Given the description of an element on the screen output the (x, y) to click on. 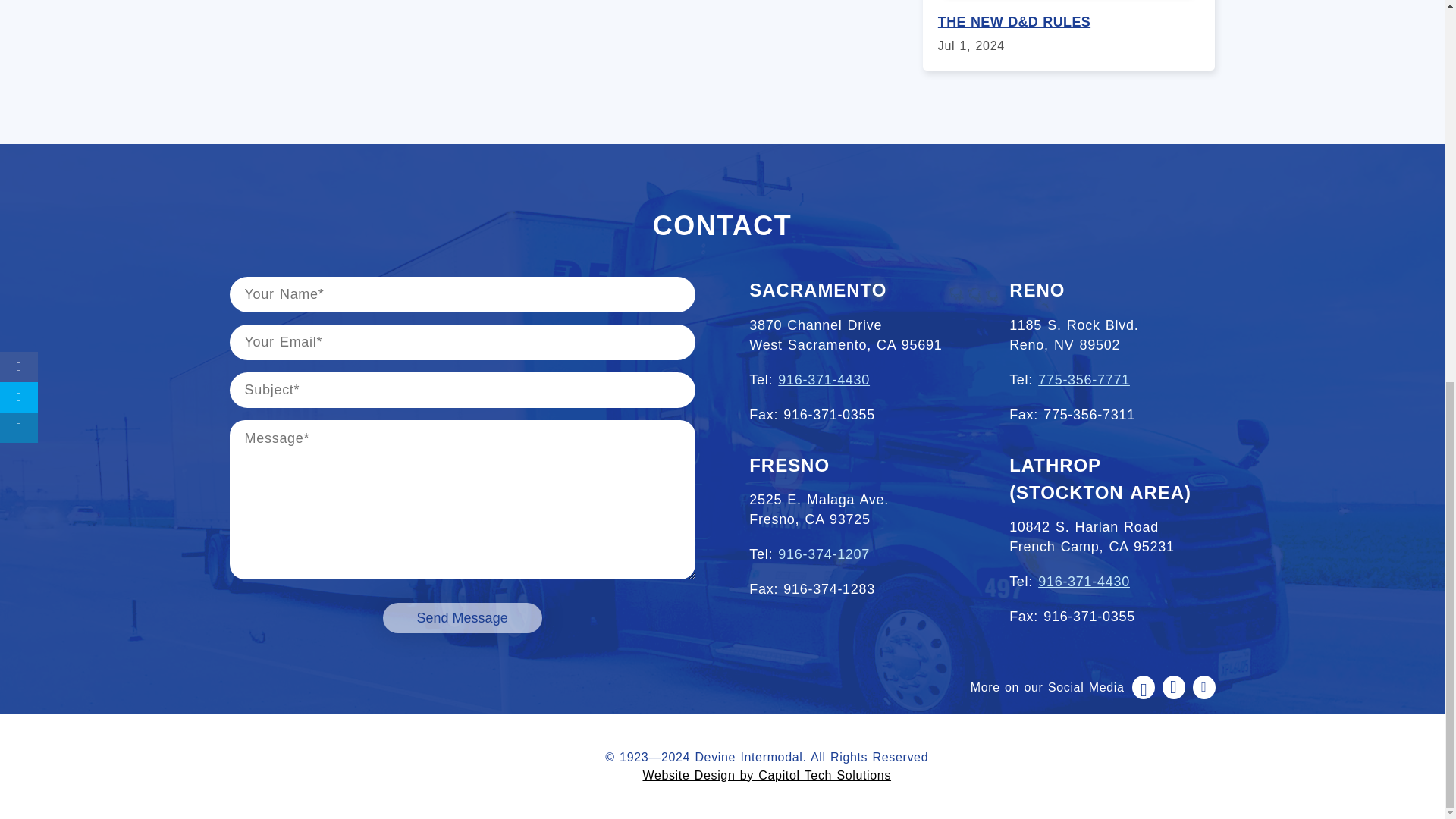
Send Message (461, 617)
